Given the description of an element on the screen output the (x, y) to click on. 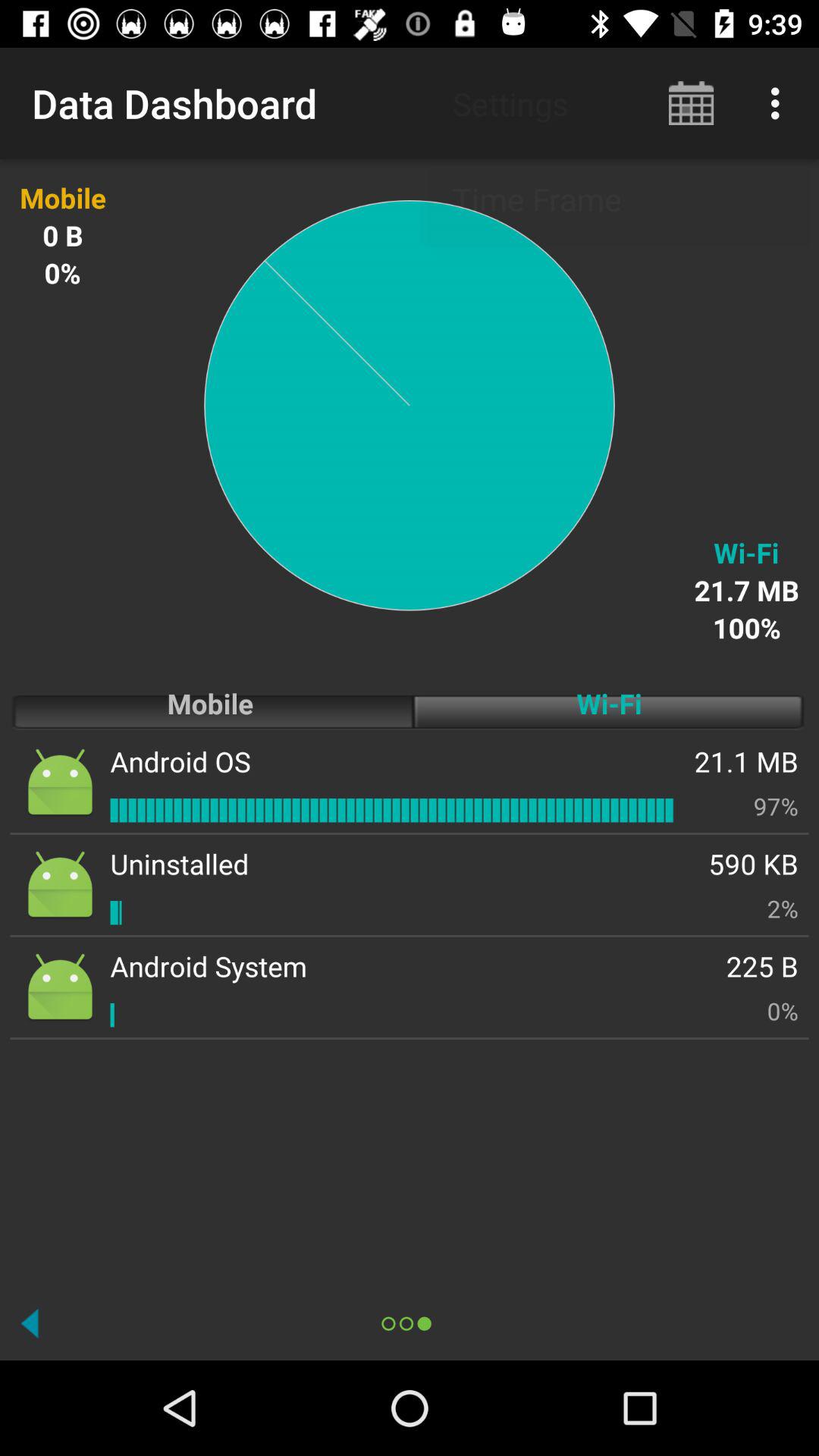
open the icon next to the 225 b icon (208, 966)
